Given the description of an element on the screen output the (x, y) to click on. 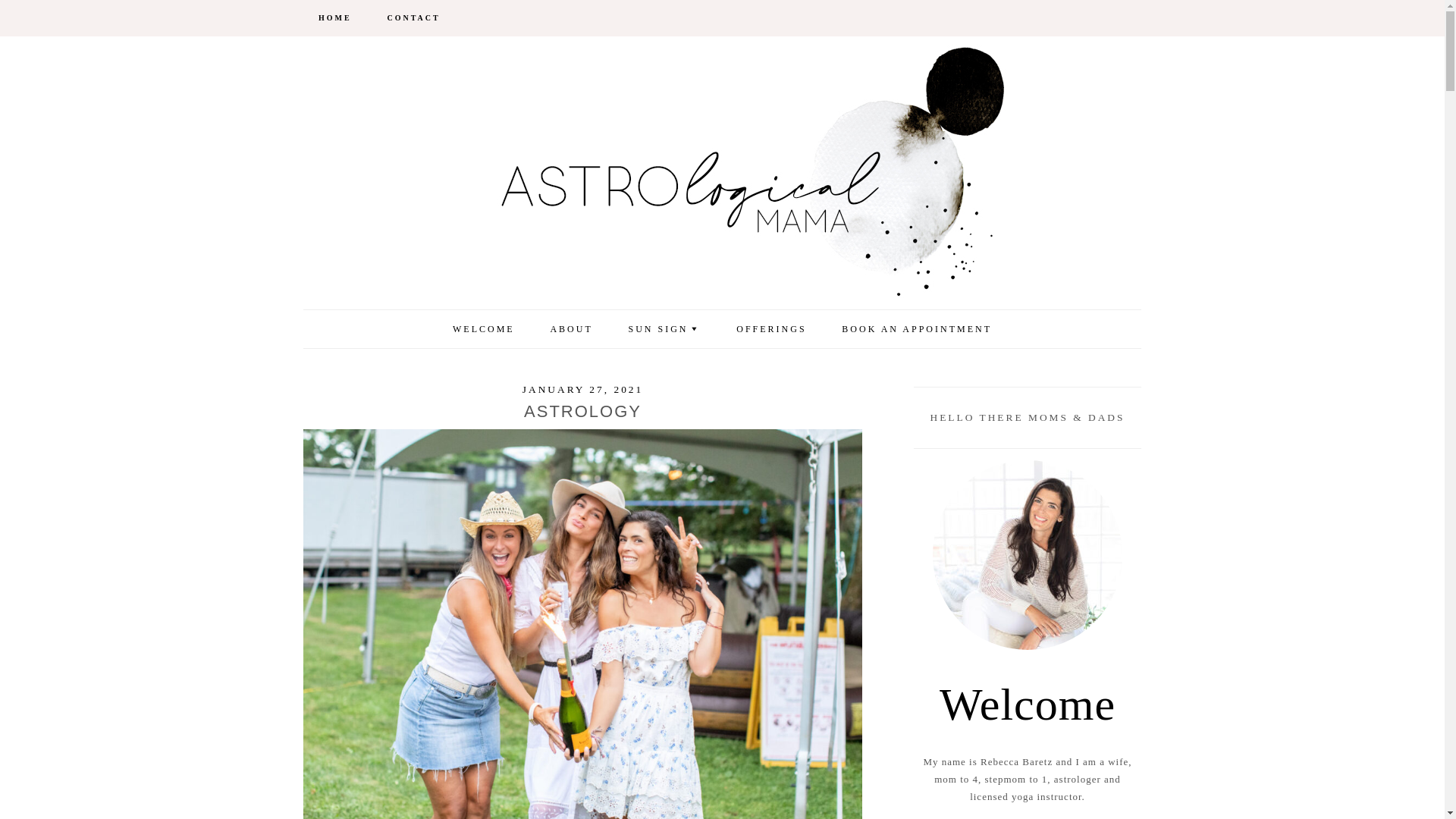
HOME (334, 18)
SUN SIGN (664, 329)
BOOK AN APPOINTMENT (917, 329)
CONTACT (412, 18)
WELCOME (483, 329)
ABOUT (570, 329)
OFFERINGS (770, 329)
